Given the description of an element on the screen output the (x, y) to click on. 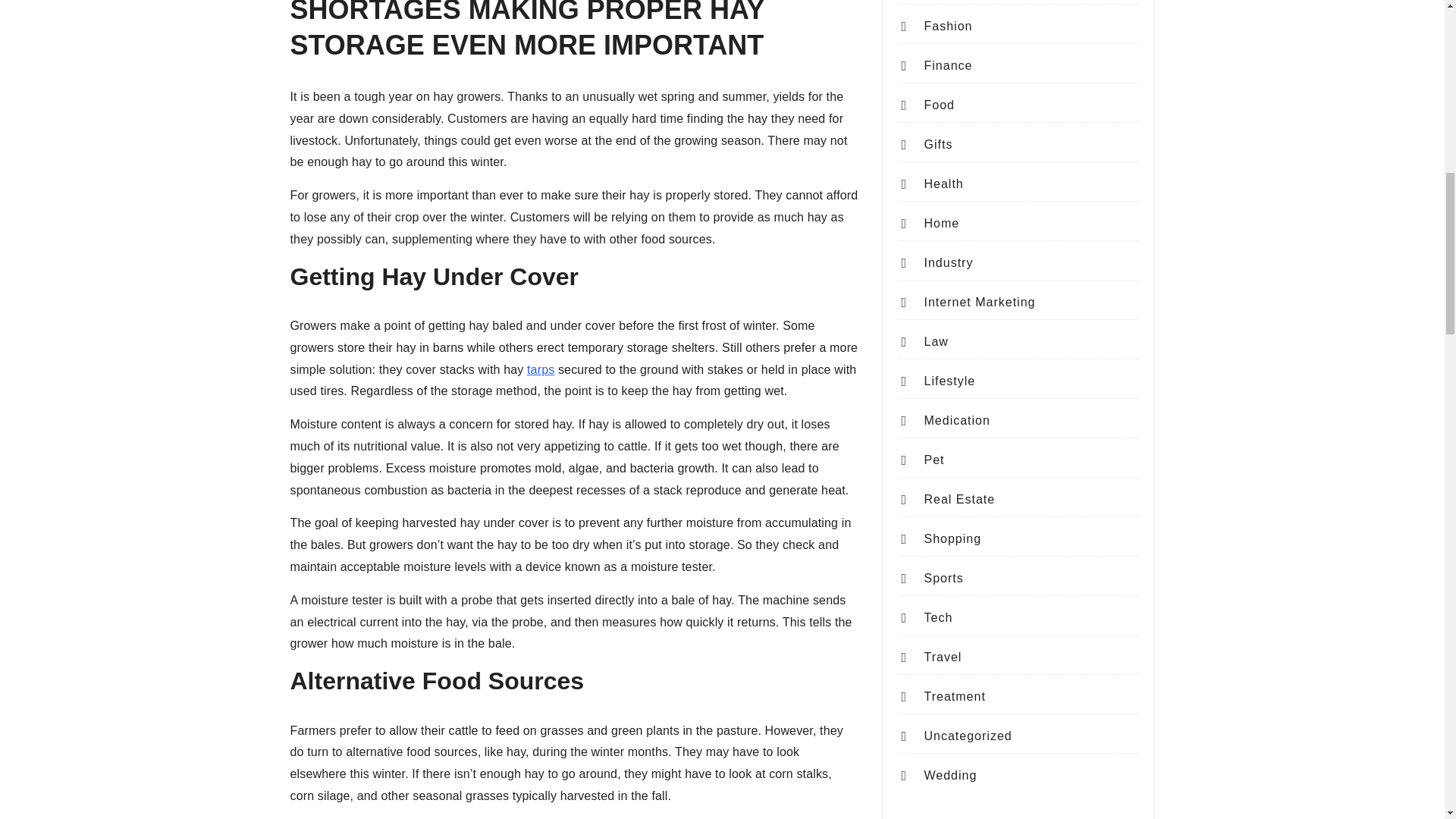
tarps (540, 369)
